Given the description of an element on the screen output the (x, y) to click on. 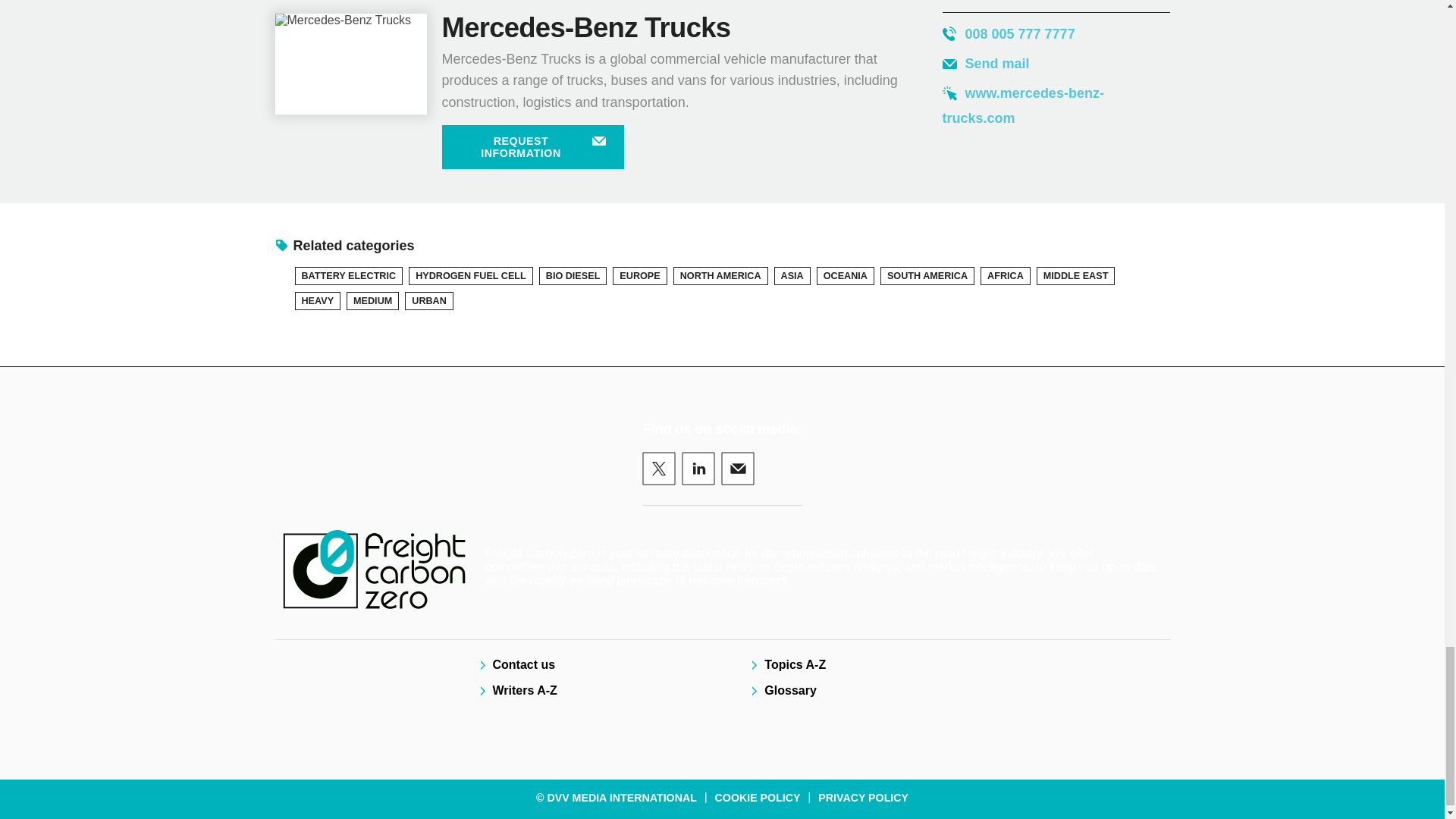
Connect with us on Twitter (658, 468)
Connect with us on Linked In (697, 468)
Email us (737, 468)
